Given the description of an element on the screen output the (x, y) to click on. 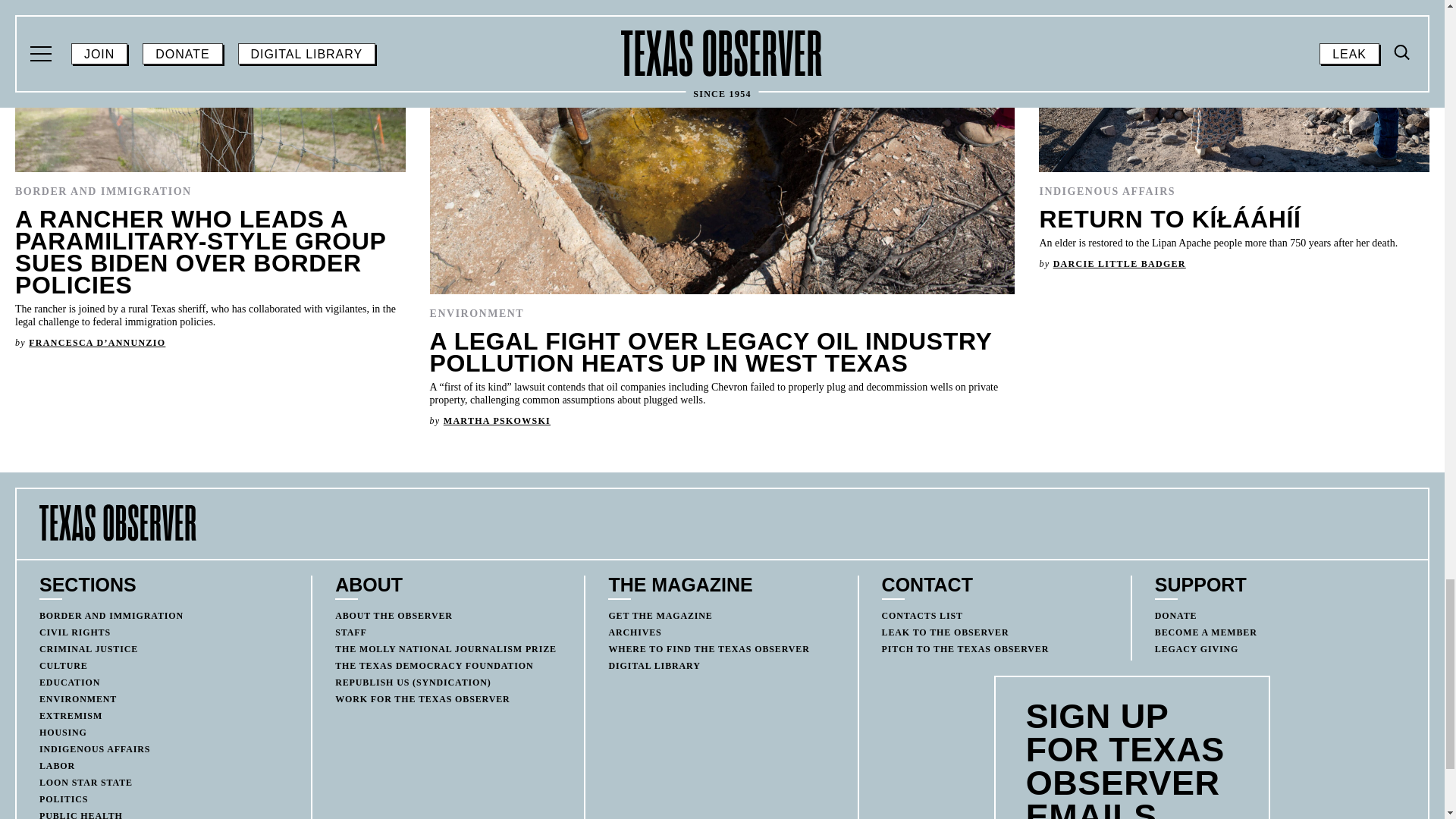
Post by Martha Pskowski (497, 420)
Post by Darcie Little Badger (1119, 263)
